Given the description of an element on the screen output the (x, y) to click on. 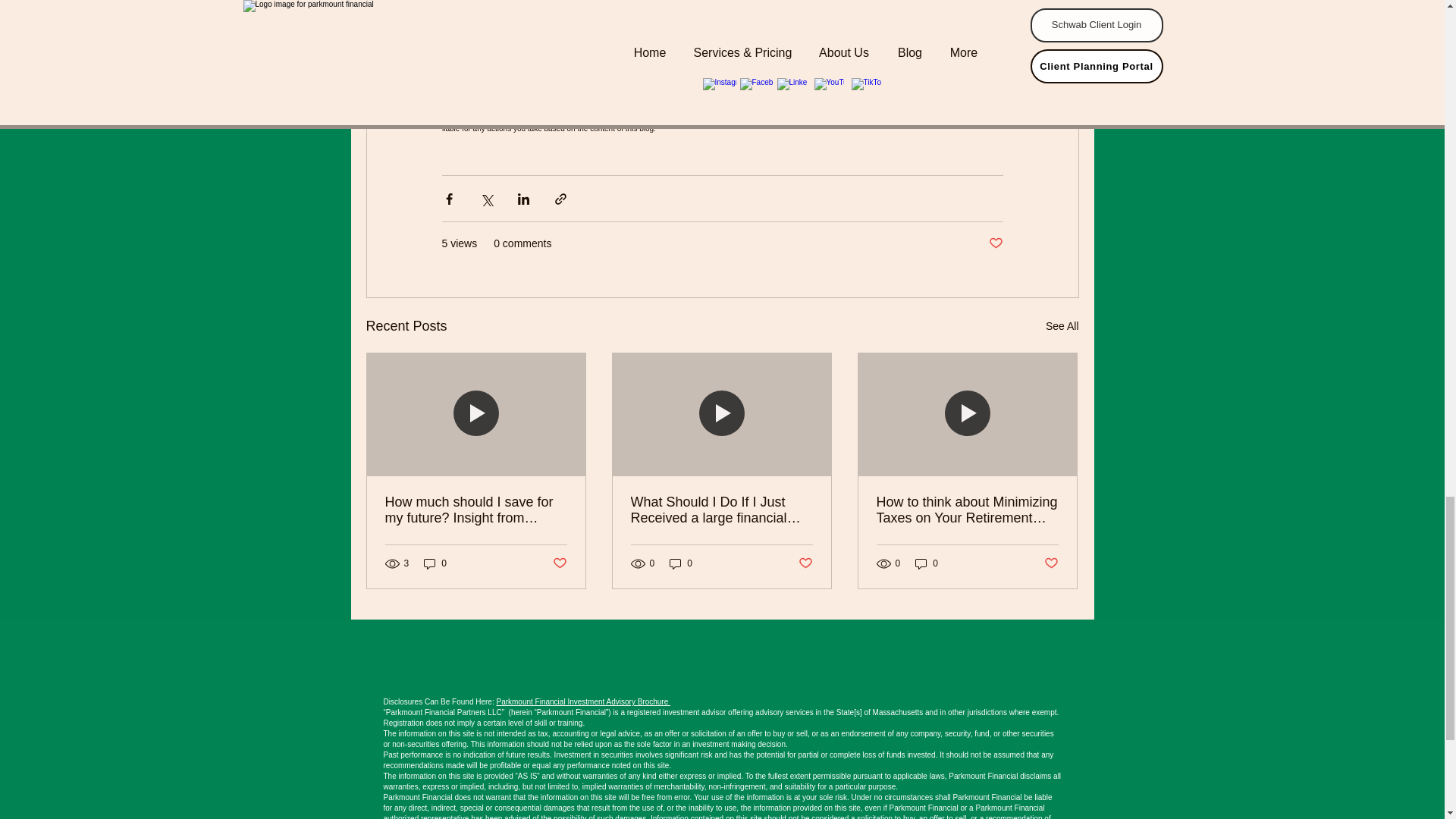
Post not marked as liked (804, 562)
Parkmount Financial Investment Advisory Brochure  (582, 701)
See All (1061, 326)
Post not marked as liked (1050, 562)
How to think about Minimizing Taxes on Your Retirement Plan (967, 510)
0 (435, 563)
Post not marked as liked (995, 243)
Post not marked as liked (558, 562)
0 (681, 563)
